Given the description of an element on the screen output the (x, y) to click on. 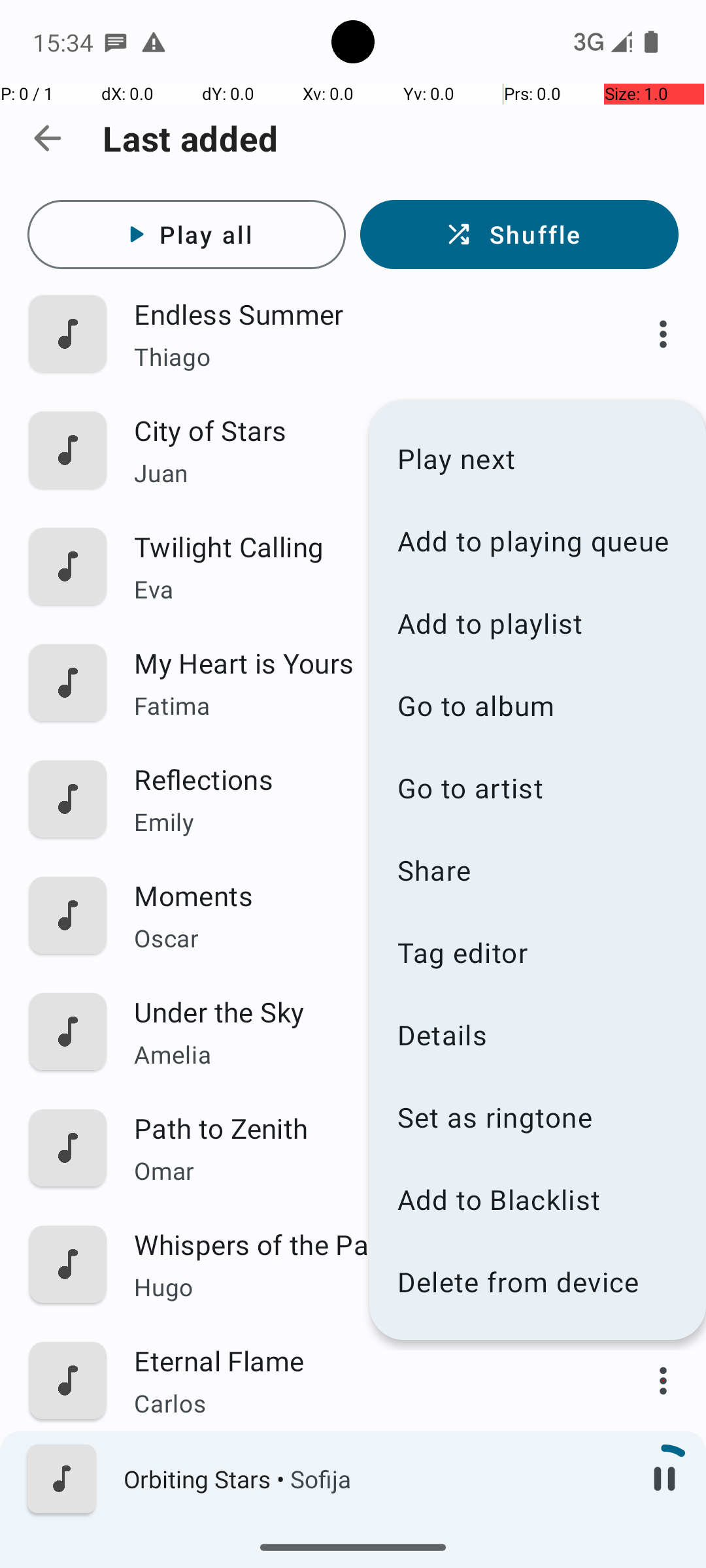
Play next Element type: android.widget.TextView (537, 457)
Add to playing queue Element type: android.widget.TextView (537, 540)
Add to playlist Element type: android.widget.TextView (537, 622)
Go to album Element type: android.widget.TextView (537, 704)
Go to artist Element type: android.widget.TextView (537, 787)
Tag editor Element type: android.widget.TextView (537, 951)
Details Element type: android.widget.TextView (537, 1034)
Set as ringtone Element type: android.widget.TextView (537, 1116)
Add to Blacklist Element type: android.widget.TextView (537, 1198)
Delete from device Element type: android.widget.TextView (537, 1281)
